Given the description of an element on the screen output the (x, y) to click on. 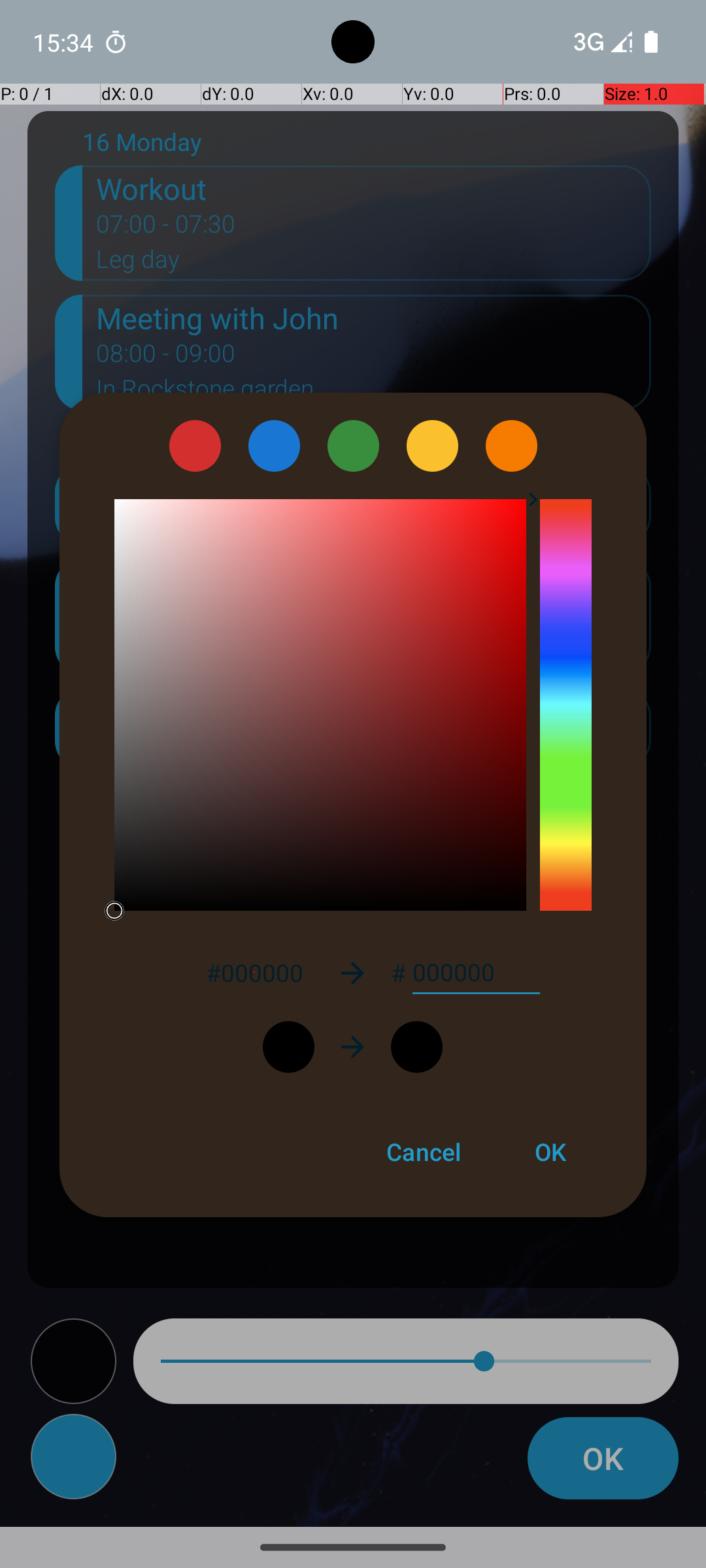
#000000 Element type: android.widget.TextView (254, 972)
000000 Element type: android.widget.EditText (475, 972)
